Given the description of an element on the screen output the (x, y) to click on. 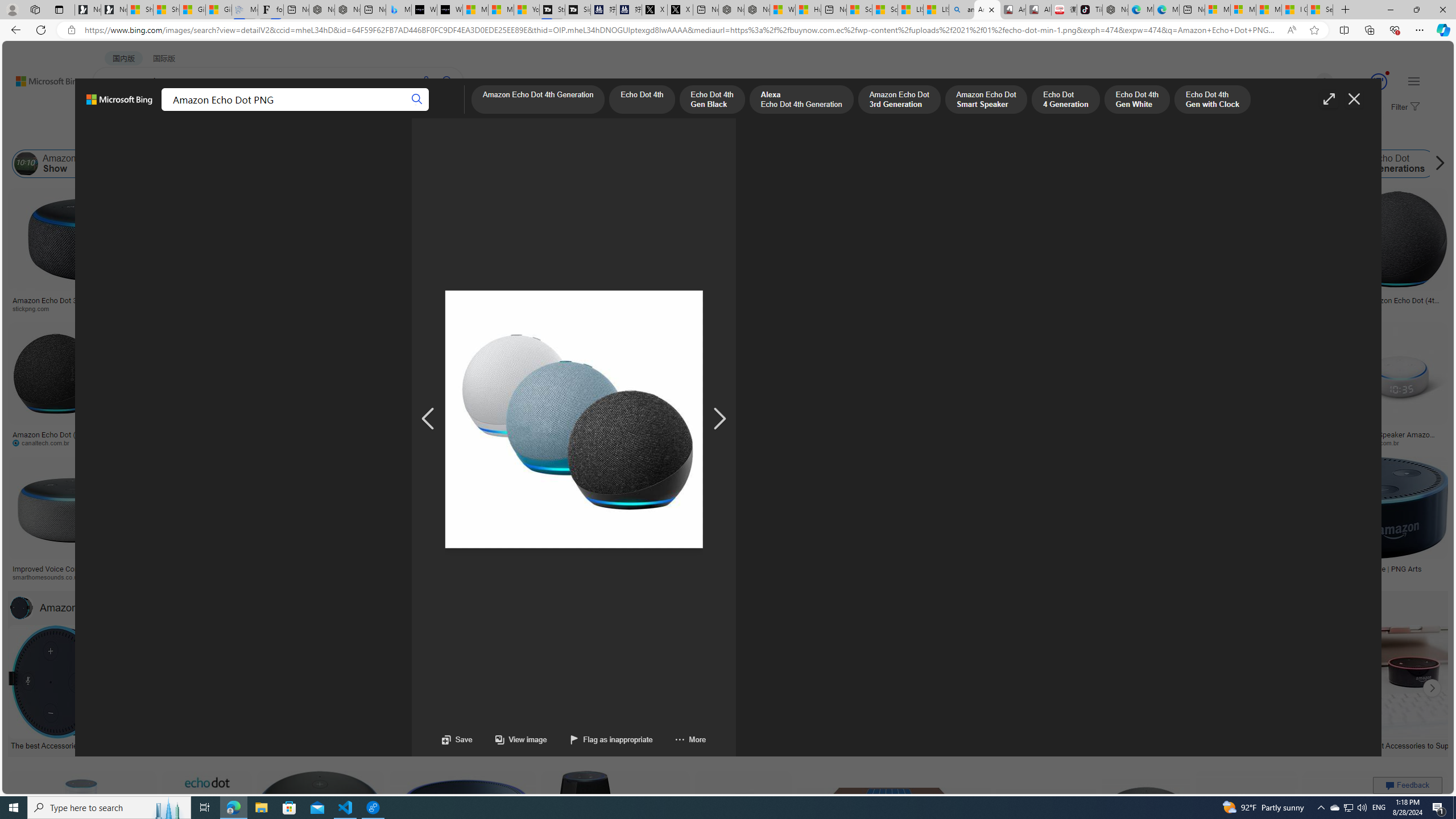
Click to scroll right (1431, 687)
Amazon Echo Dot PNG transparente - StickPNG (349, 303)
Amazon Echo Show (25, 163)
Amazon Echo Dot Png 542 Download (783, 303)
currys.co.uk (1046, 576)
IMAGES (156, 111)
